Given the description of an element on the screen output the (x, y) to click on. 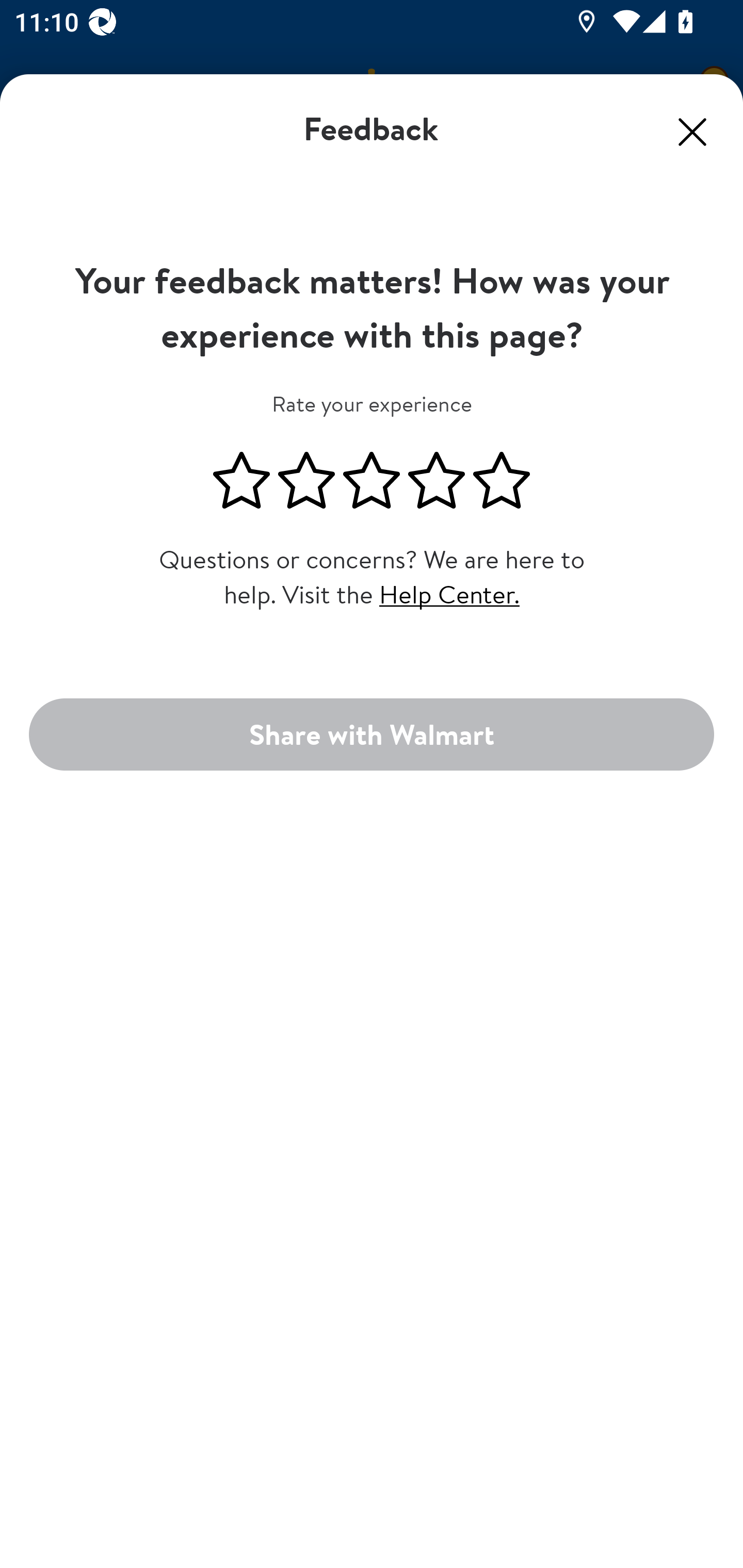
Close (692, 131)
1 out of 5 stars, not selected (241, 480)
2 out of 5 stars, not selected (306, 480)
3 out of 5 stars, not selected (371, 480)
4 out of 5 stars, not selected (436, 480)
5 out of 5 stars, not selected (501, 480)
Share with Walmart (371, 733)
